Given the description of an element on the screen output the (x, y) to click on. 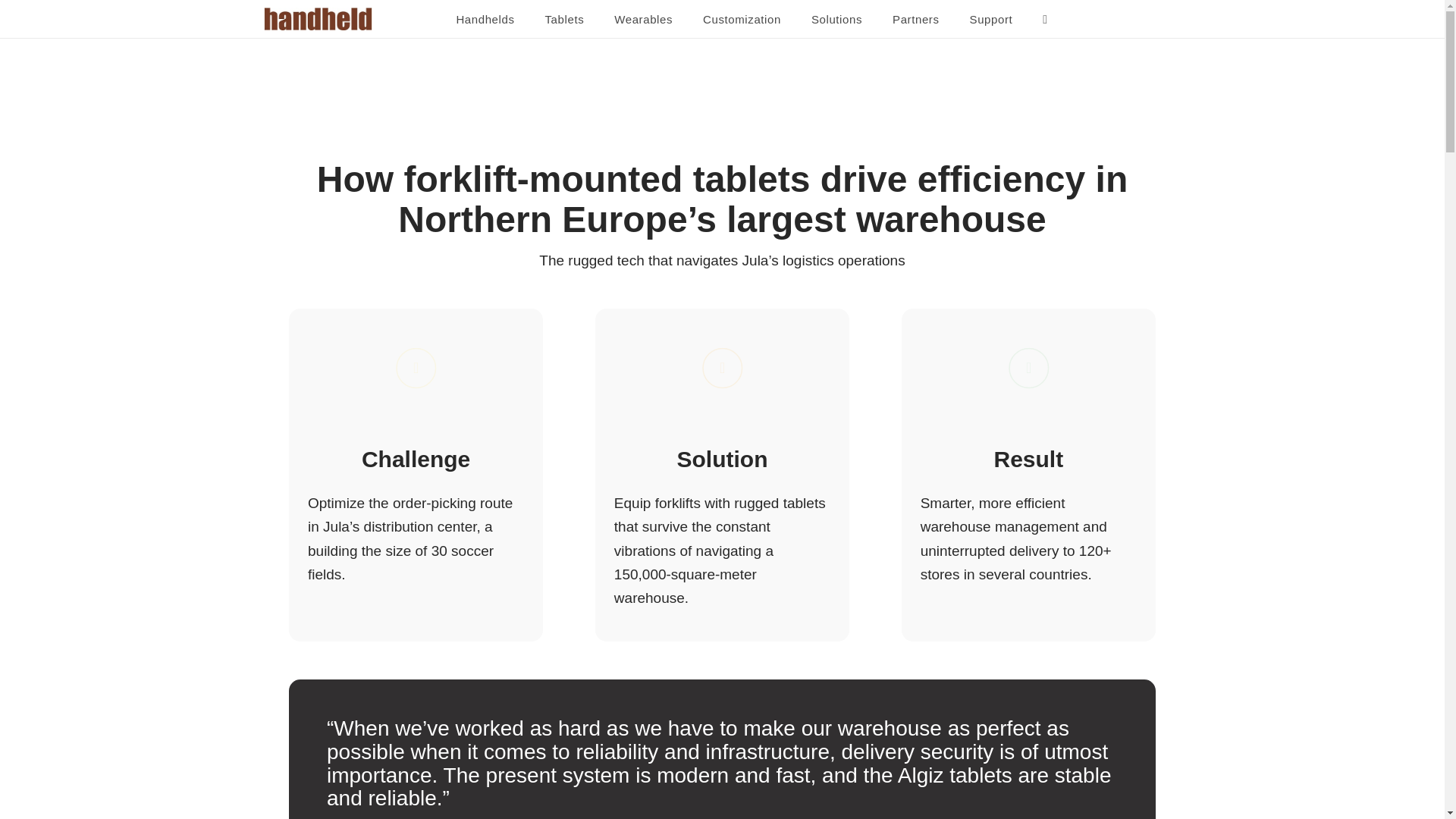
Partners (916, 19)
Tablets (564, 19)
Customization (741, 19)
Handhelds (485, 19)
Wearables (642, 19)
Handheld Logotype (317, 18)
Solutions (836, 19)
Support (991, 19)
